Given the description of an element on the screen output the (x, y) to click on. 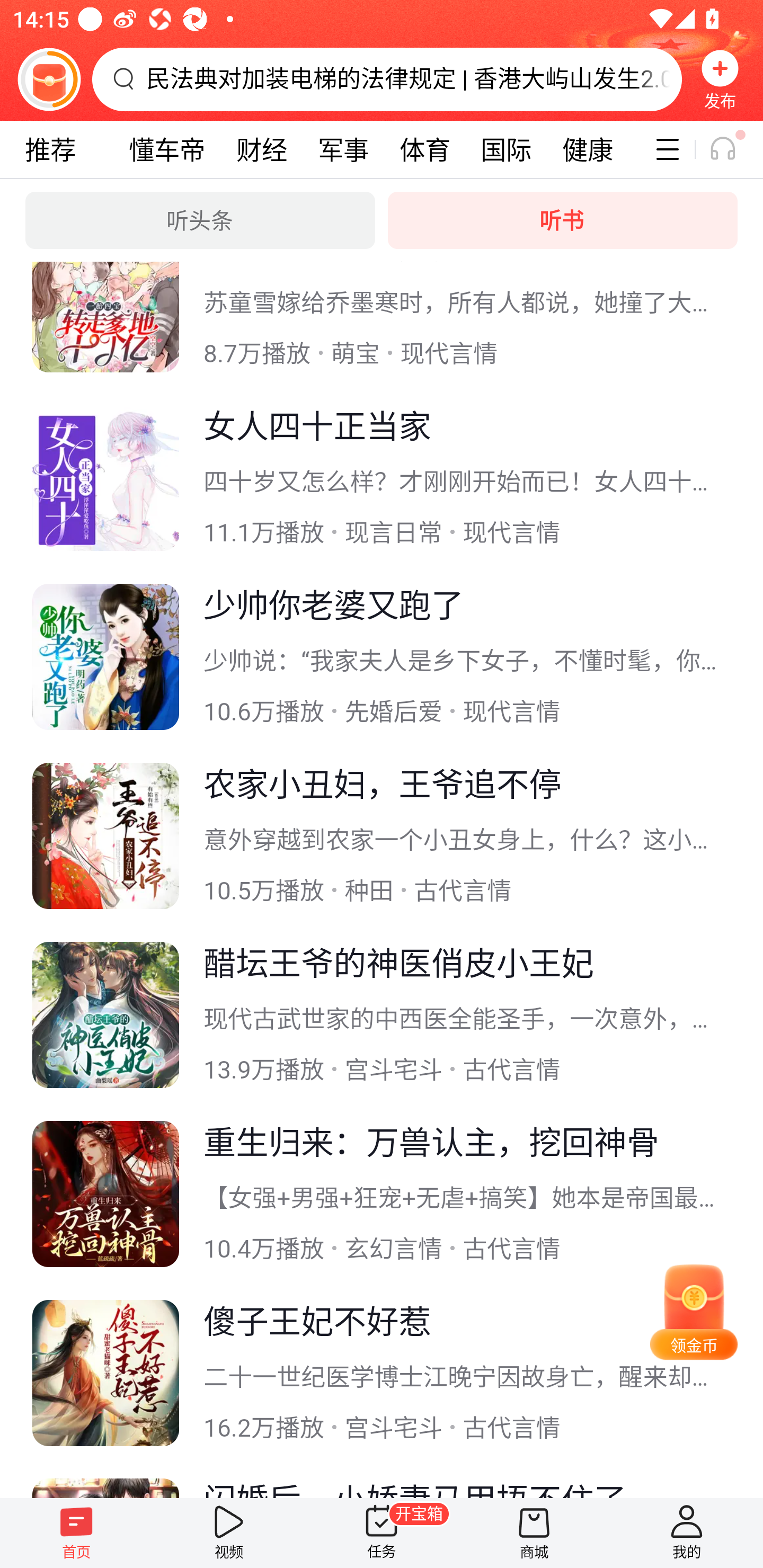
阅读赚金币 (48, 79)
发布 发布，按钮 (720, 78)
推荐 (49, 149)
懂车帝 (166, 149)
财经 (261, 149)
军事 (342, 149)
体育 (424, 149)
国际 (505, 149)
健康 (587, 149)
听一听开关 (732, 149)
听头条 (200, 220)
听书 (562, 220)
首页 (76, 1532)
视频 (228, 1532)
任务 开宝箱 (381, 1532)
商城 (533, 1532)
我的 (686, 1532)
